Given the description of an element on the screen output the (x, y) to click on. 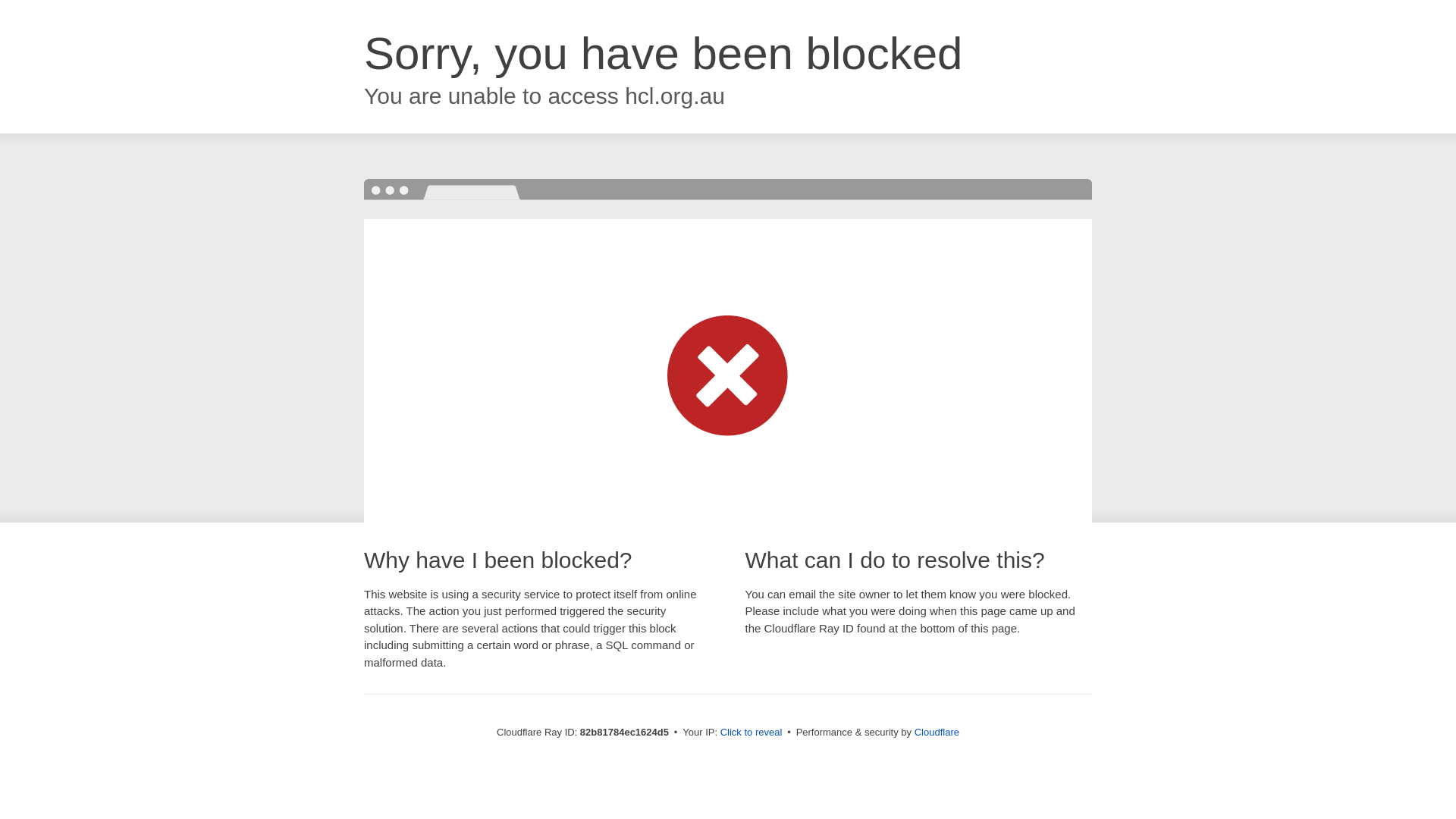
Click to reveal Element type: text (751, 732)
Cloudflare Element type: text (936, 731)
